Given the description of an element on the screen output the (x, y) to click on. 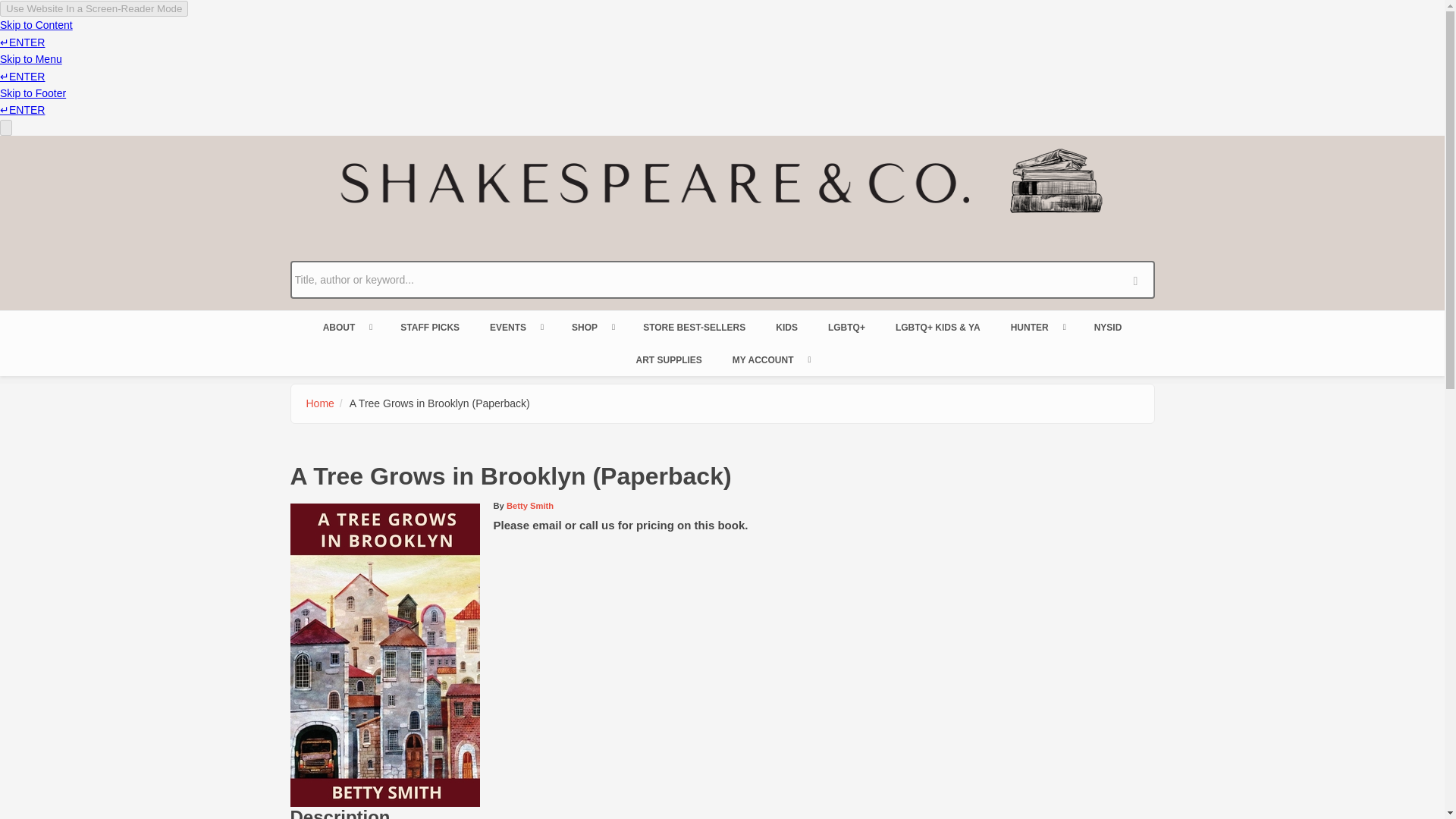
Home (319, 403)
MY ACCOUNT (770, 359)
SHOP (591, 327)
STORE BEST-SELLERS (693, 327)
STAFF PICKS (429, 327)
EVENTS (515, 327)
HUNTER (1036, 327)
Title, author or keyword... (721, 279)
KIDS (786, 327)
ART SUPPLIES (668, 359)
